Given the description of an element on the screen output the (x, y) to click on. 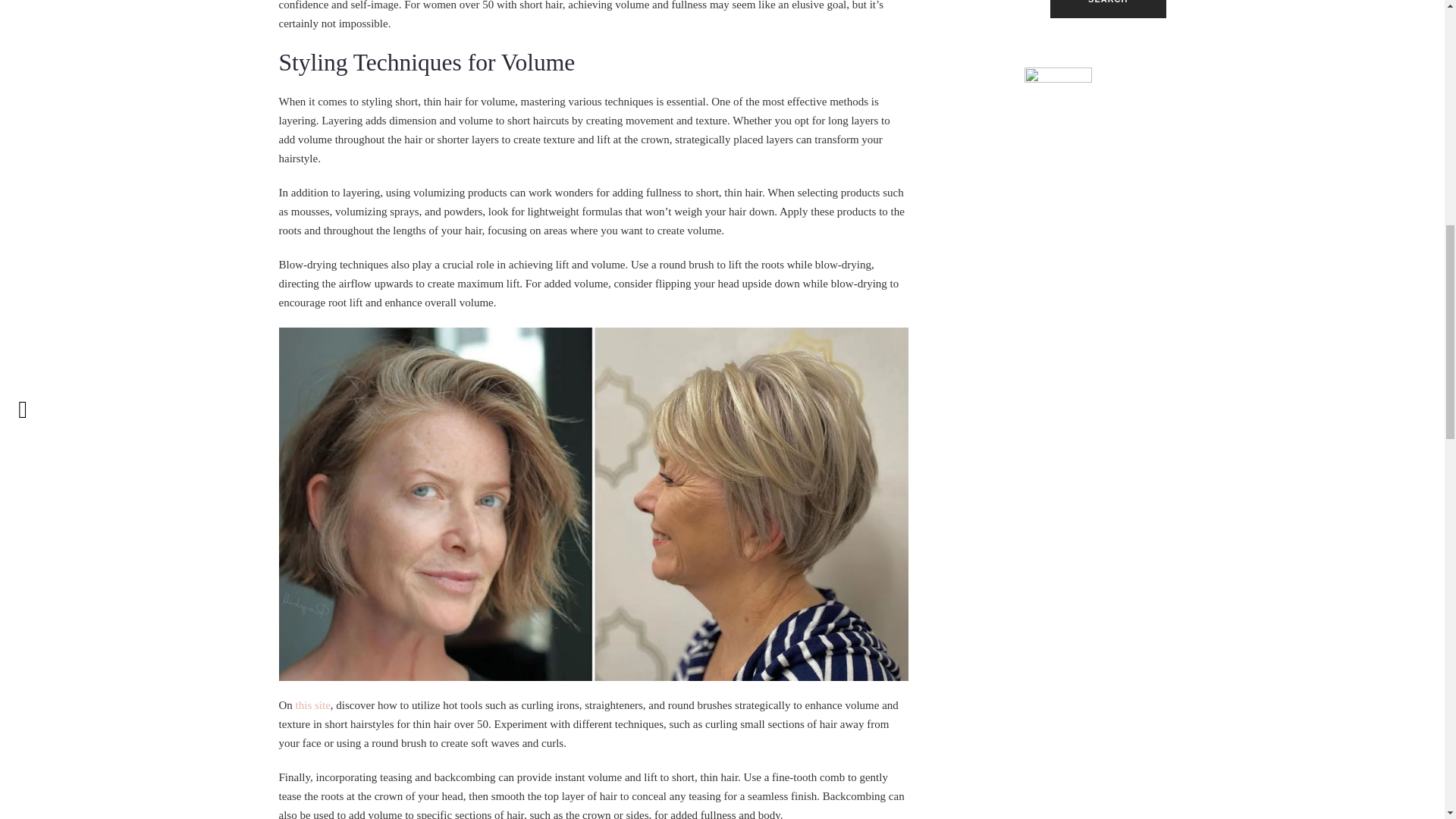
short hairstyles for thin hair over 50 (312, 705)
Search (1107, 9)
this site (312, 705)
Search (1107, 9)
